Given the description of an element on the screen output the (x, y) to click on. 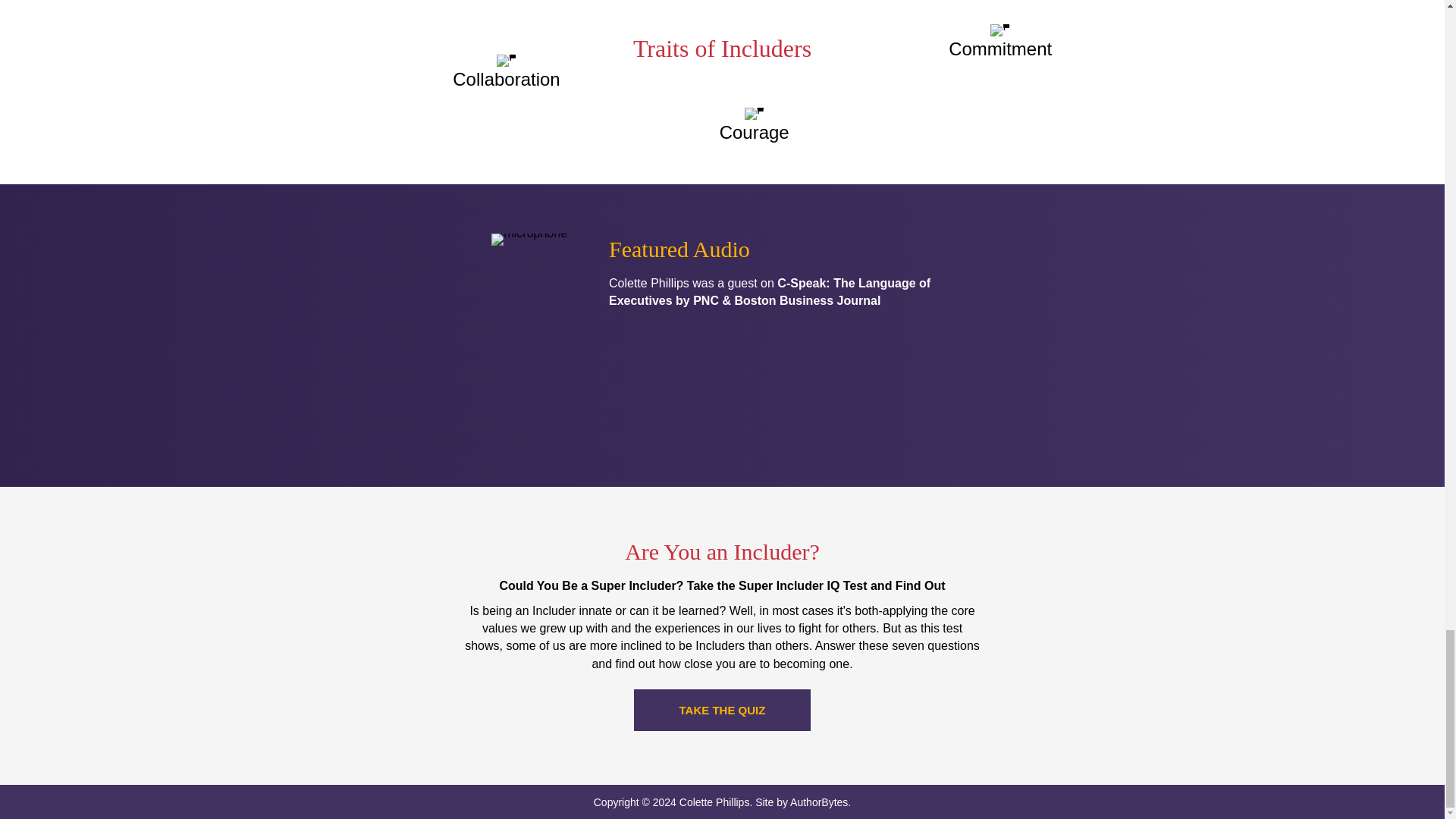
AuthorBytes (818, 802)
person-icon-423261 (1000, 30)
person-icon-423261 (506, 60)
microphone (529, 239)
person-icon-423261 (754, 113)
TAKE THE QUIZ (721, 710)
